Given the description of an element on the screen output the (x, y) to click on. 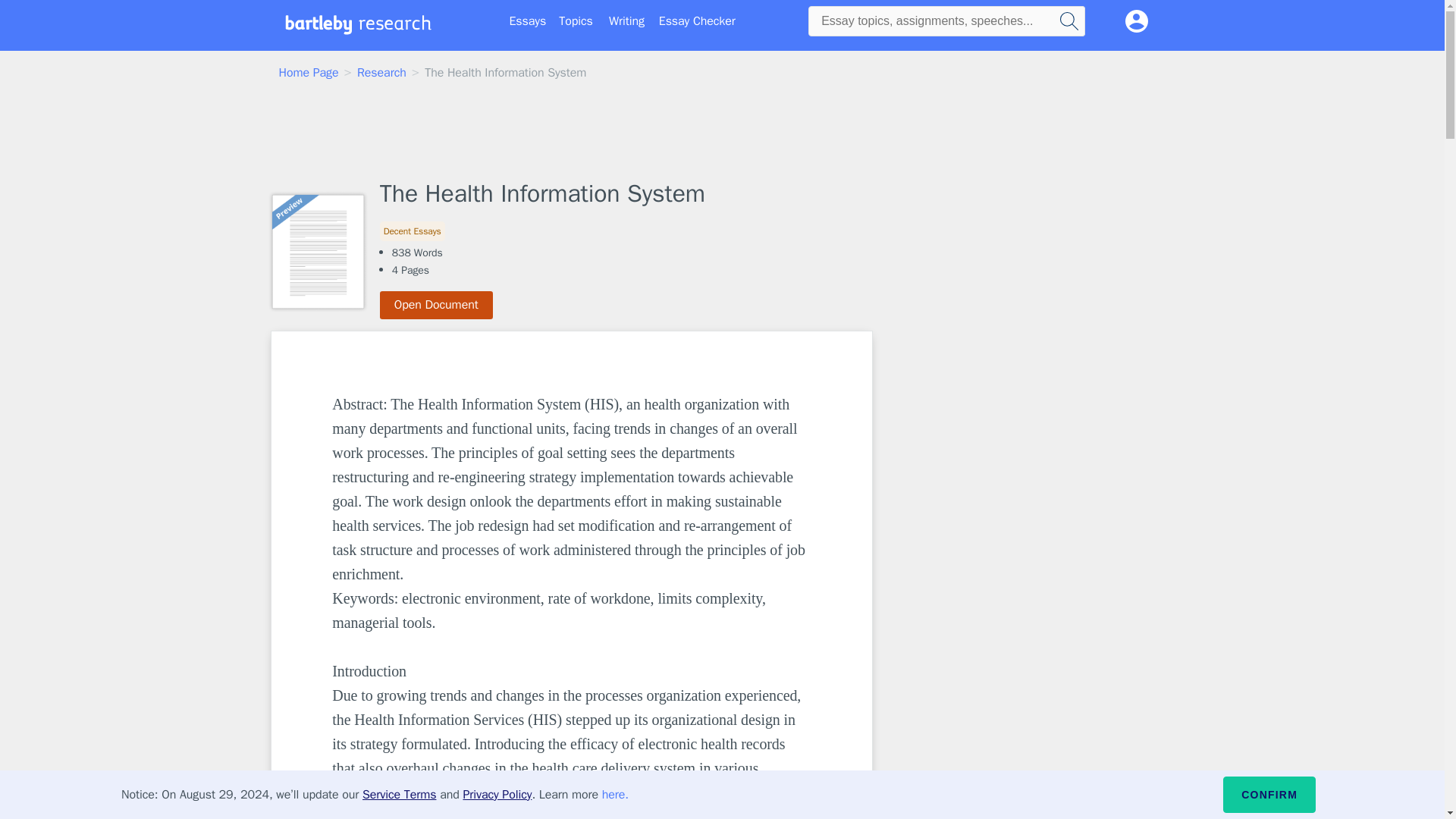
Essay Checker (697, 20)
Home Page (309, 72)
Topics (575, 20)
Open Document (436, 305)
Essays (528, 20)
Writing (626, 20)
Research (381, 72)
